Given the description of an element on the screen output the (x, y) to click on. 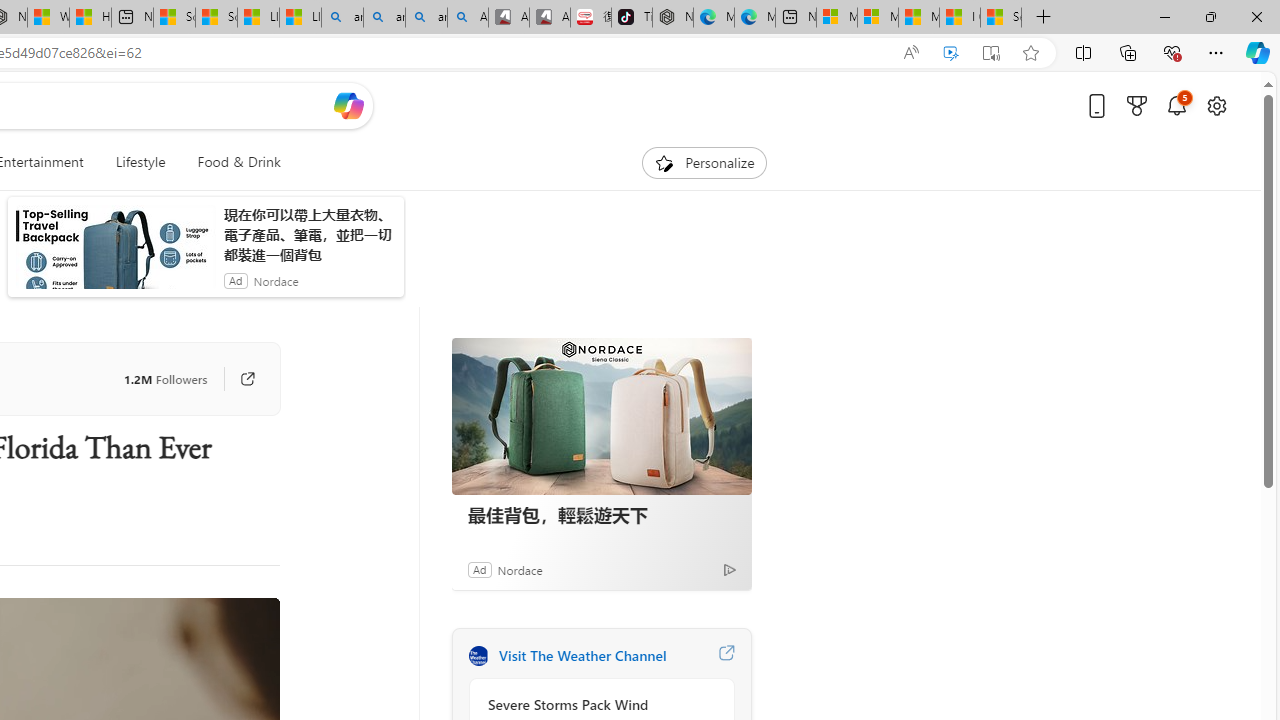
Enter Immersive Reader (F9) (991, 53)
Nordace - Best Sellers (672, 17)
Open Copilot (347, 105)
Enhance video (950, 53)
Restore (1210, 16)
Minimize (1164, 16)
The Weather Channel (478, 655)
amazon - Search Images (425, 17)
Microsoft Start (918, 17)
New Tab (1044, 17)
